Given the description of an element on the screen output the (x, y) to click on. 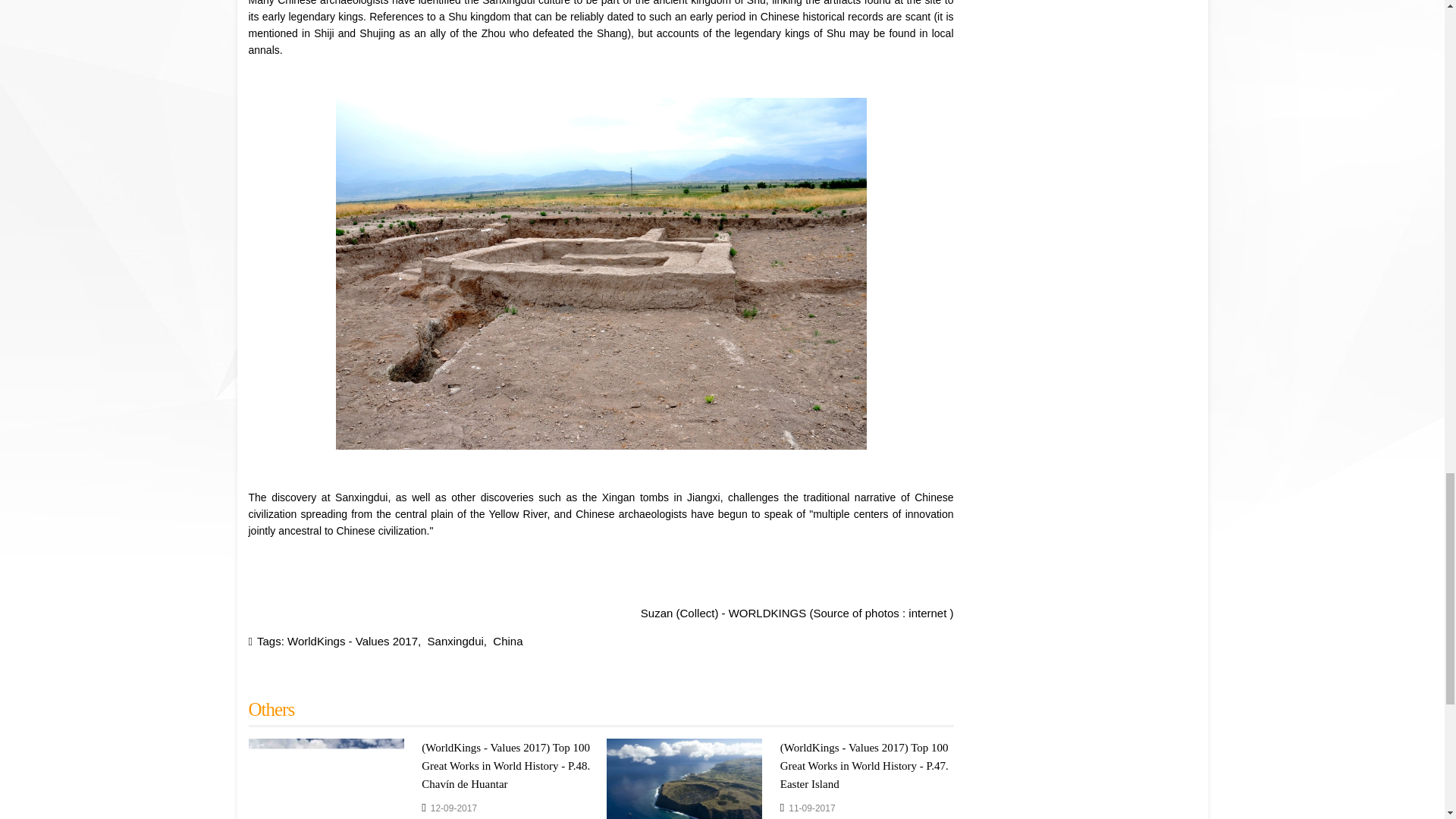
WorldKings - Values 2017 (351, 640)
Sanxingdui (455, 640)
China (507, 640)
